Given the description of an element on the screen output the (x, y) to click on. 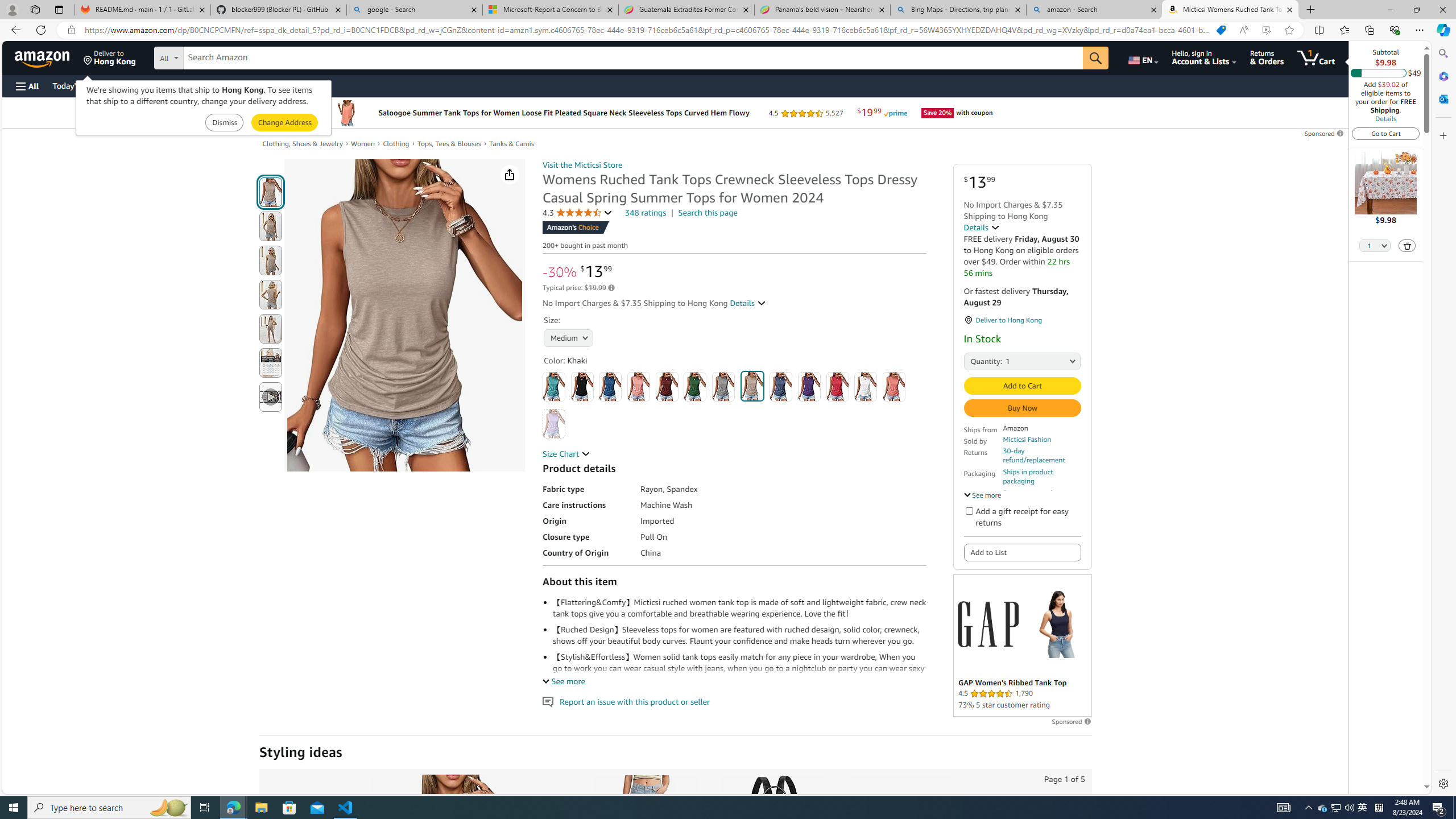
Pink (894, 386)
Aqua (553, 386)
Delete (1407, 245)
Dark Red (666, 386)
Search in (210, 56)
Grey (723, 386)
Sponsored ad (1022, 644)
Navy Blue (781, 386)
Light Purple (553, 423)
Quantity: (976, 360)
Secure transaction (1032, 492)
